Given the description of an element on the screen output the (x, y) to click on. 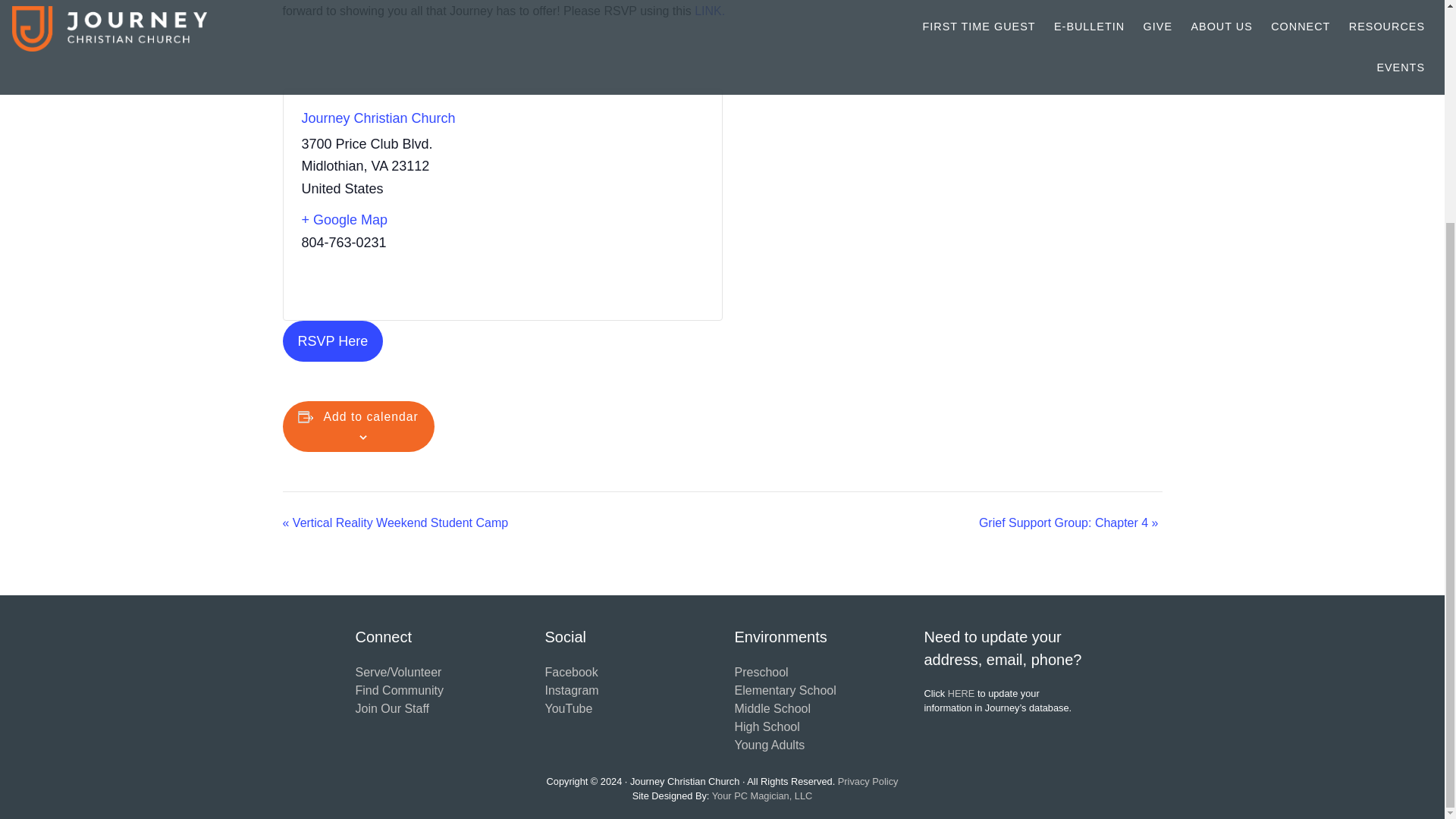
Virginia (379, 165)
RSVP Here (332, 341)
Journey Christian Church (378, 118)
Add to calendar (371, 417)
Click to view a Google Map (395, 220)
LINK. (709, 10)
Journey Christian Church (378, 118)
